Given the description of an element on the screen output the (x, y) to click on. 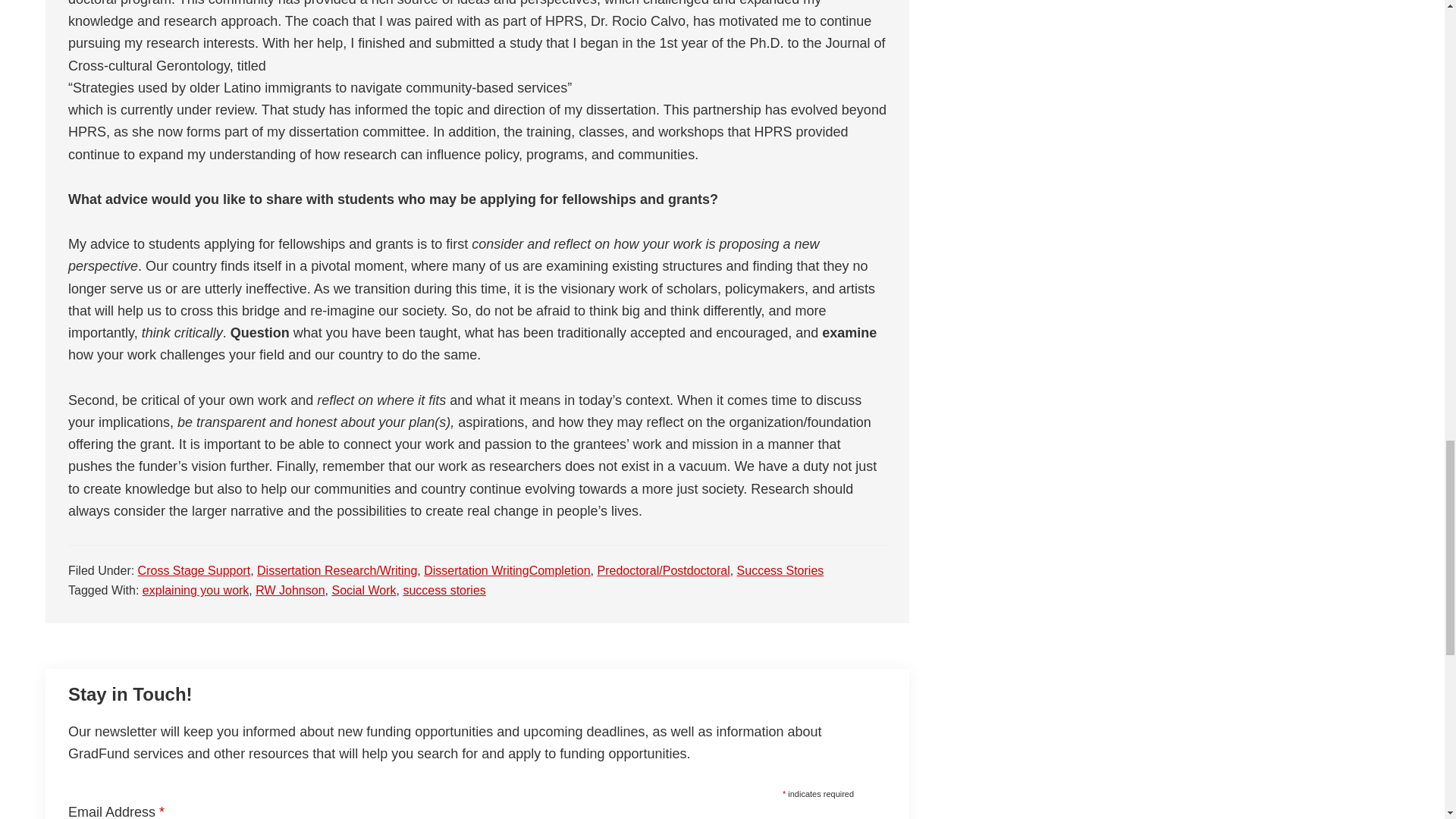
Cross Stage Support (194, 570)
Dissertation WritingCompletion (506, 570)
